Given the description of an element on the screen output the (x, y) to click on. 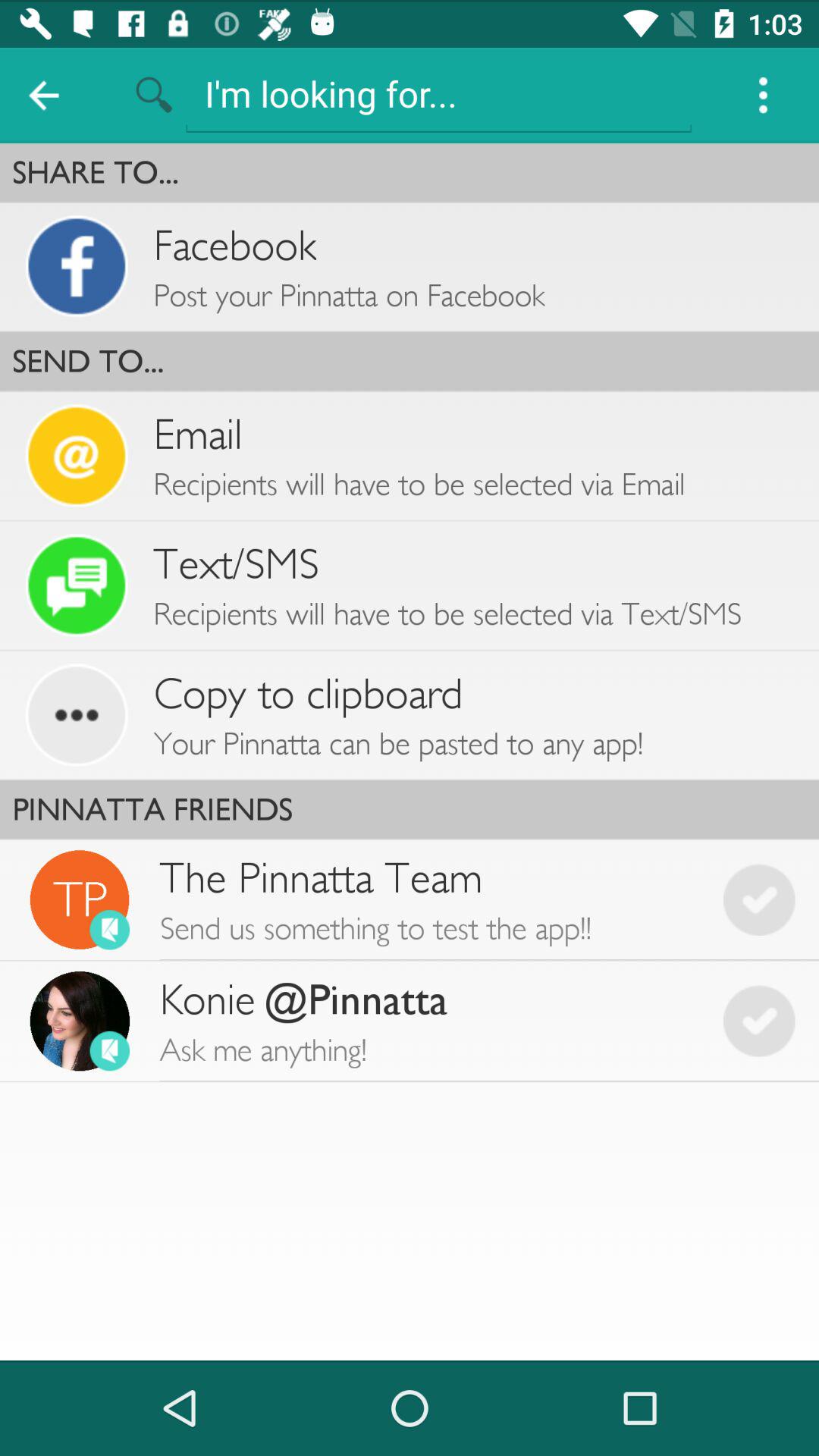
choose item above the share to... (763, 95)
